Given the description of an element on the screen output the (x, y) to click on. 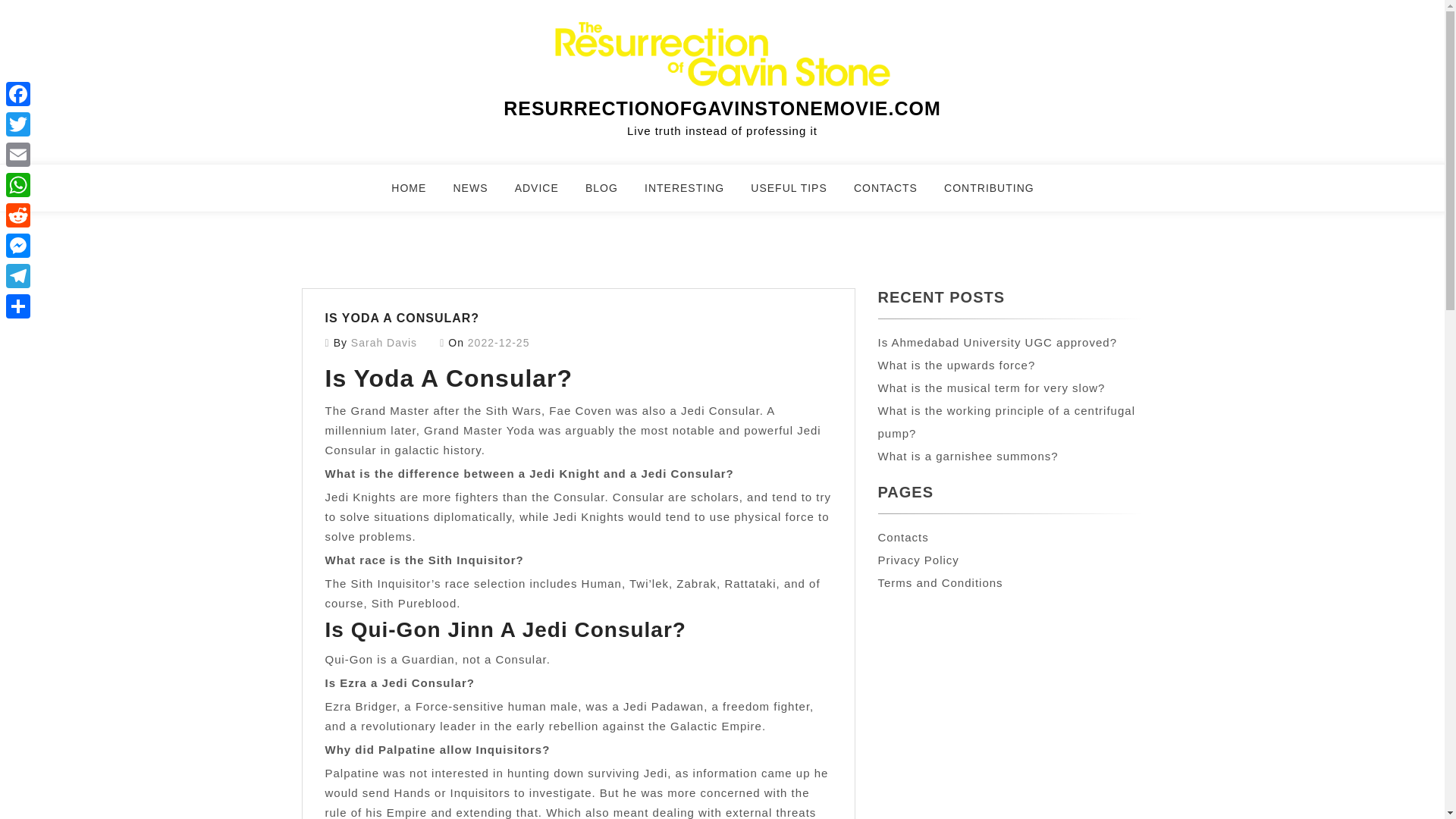
ADVICE (546, 194)
Facebook (17, 93)
Email (17, 154)
HOME (418, 194)
Sarah Davis (383, 342)
USEFUL TIPS (798, 194)
CONTRIBUTING (997, 194)
BLOG (611, 194)
Contacts (902, 536)
Is Ahmedabad University UGC approved? (996, 341)
